Given the description of an element on the screen output the (x, y) to click on. 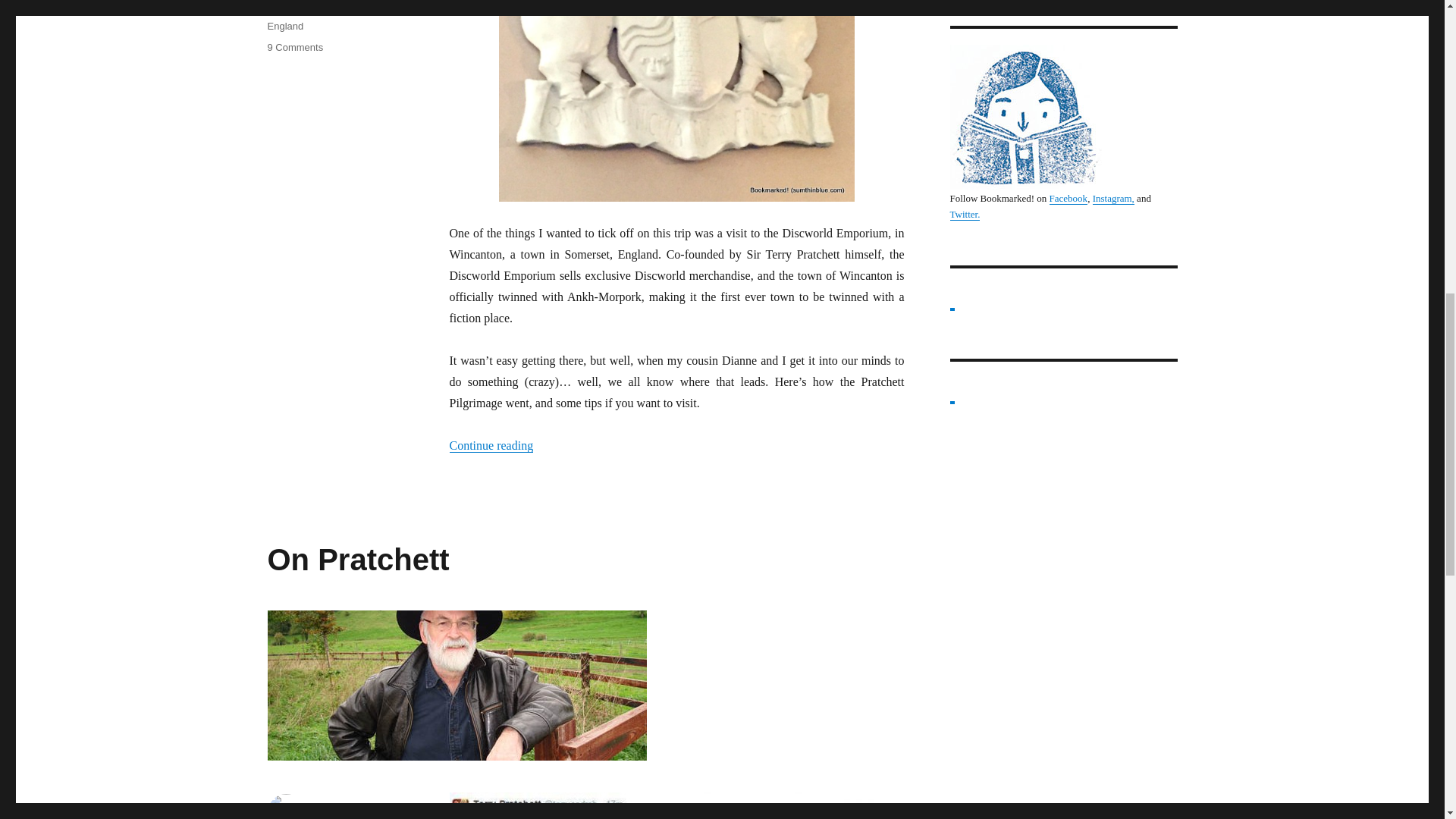
Wincanton (289, 9)
Wincanton England (315, 17)
On Pratchett (357, 559)
Twitter (962, 214)
Instagram, (1113, 197)
Facebook (1068, 197)
